Given the description of an element on the screen output the (x, y) to click on. 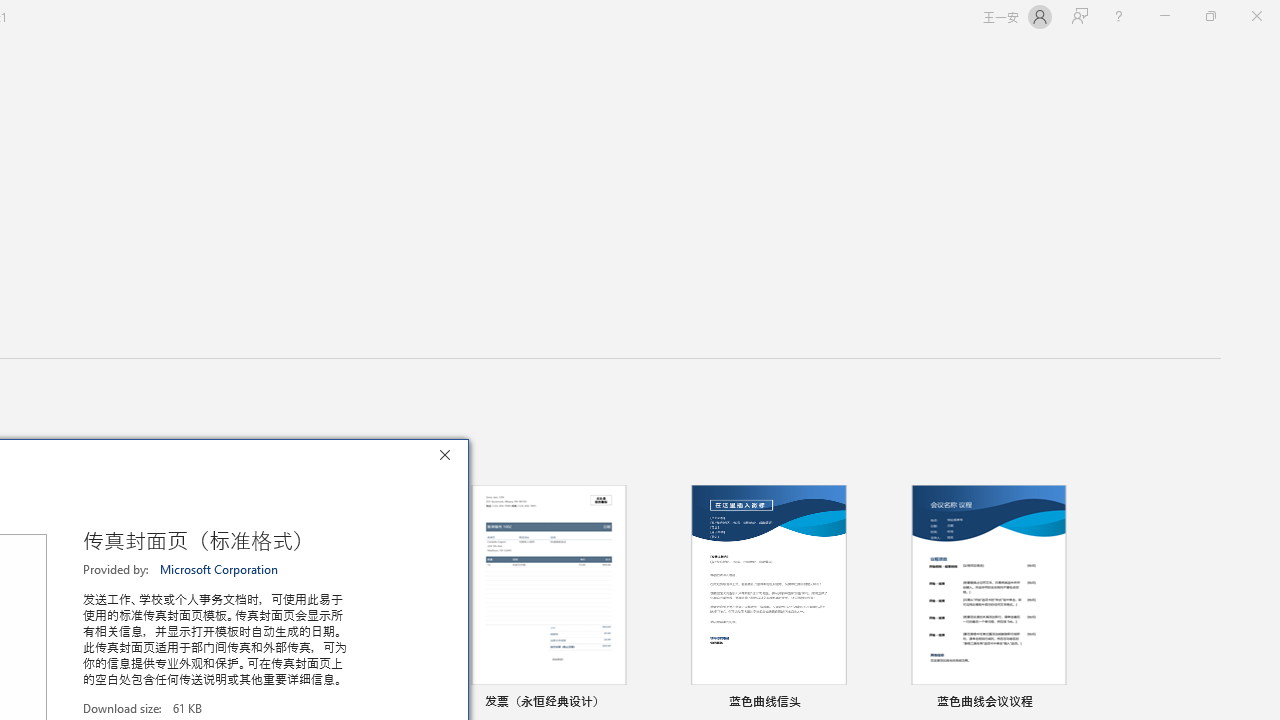
Pin to list (1075, 703)
Microsoft Corporation (220, 569)
